Given the description of an element on the screen output the (x, y) to click on. 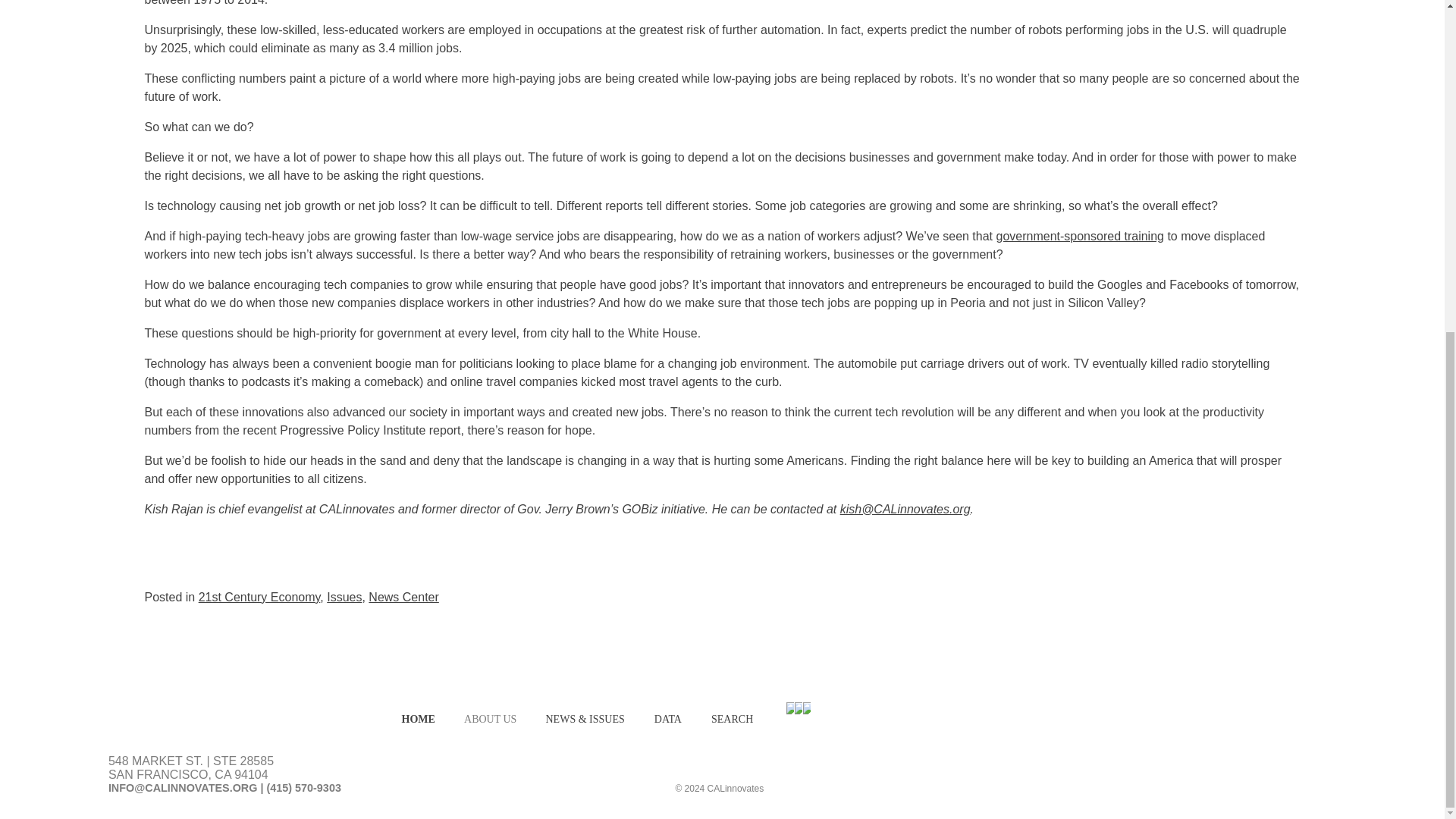
Issues (343, 596)
government-sponsored training (1079, 236)
News Center (403, 596)
HOME (418, 719)
21st Century Economy (259, 596)
